Given the description of an element on the screen output the (x, y) to click on. 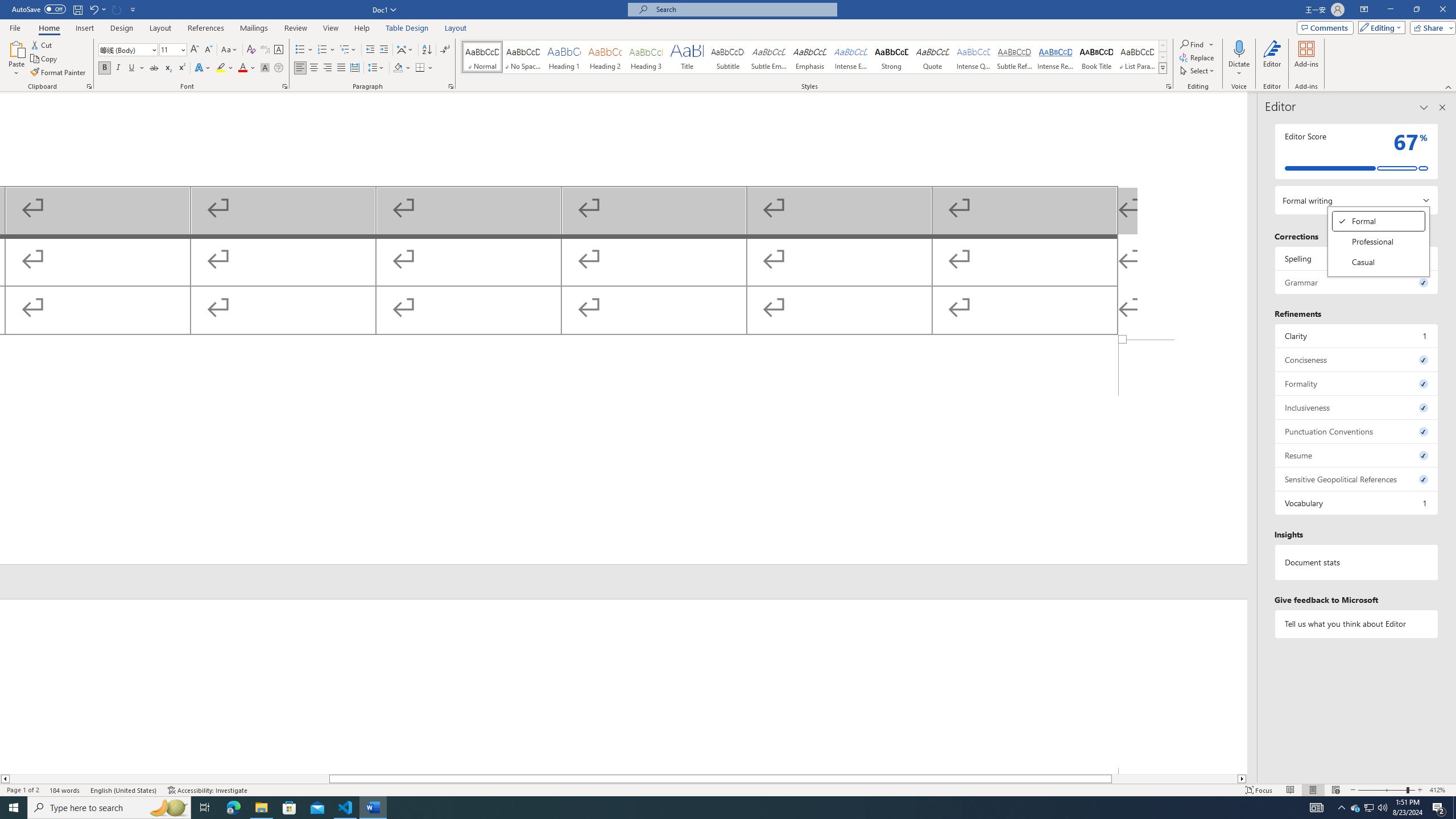
Q2790: 100% (1382, 807)
Intense Reference (1378, 241)
File Explorer - 1 running window (1055, 56)
Quote (261, 807)
Vocabulary, 1 issue. Press space or enter to review items. (932, 56)
